Given the description of an element on the screen output the (x, y) to click on. 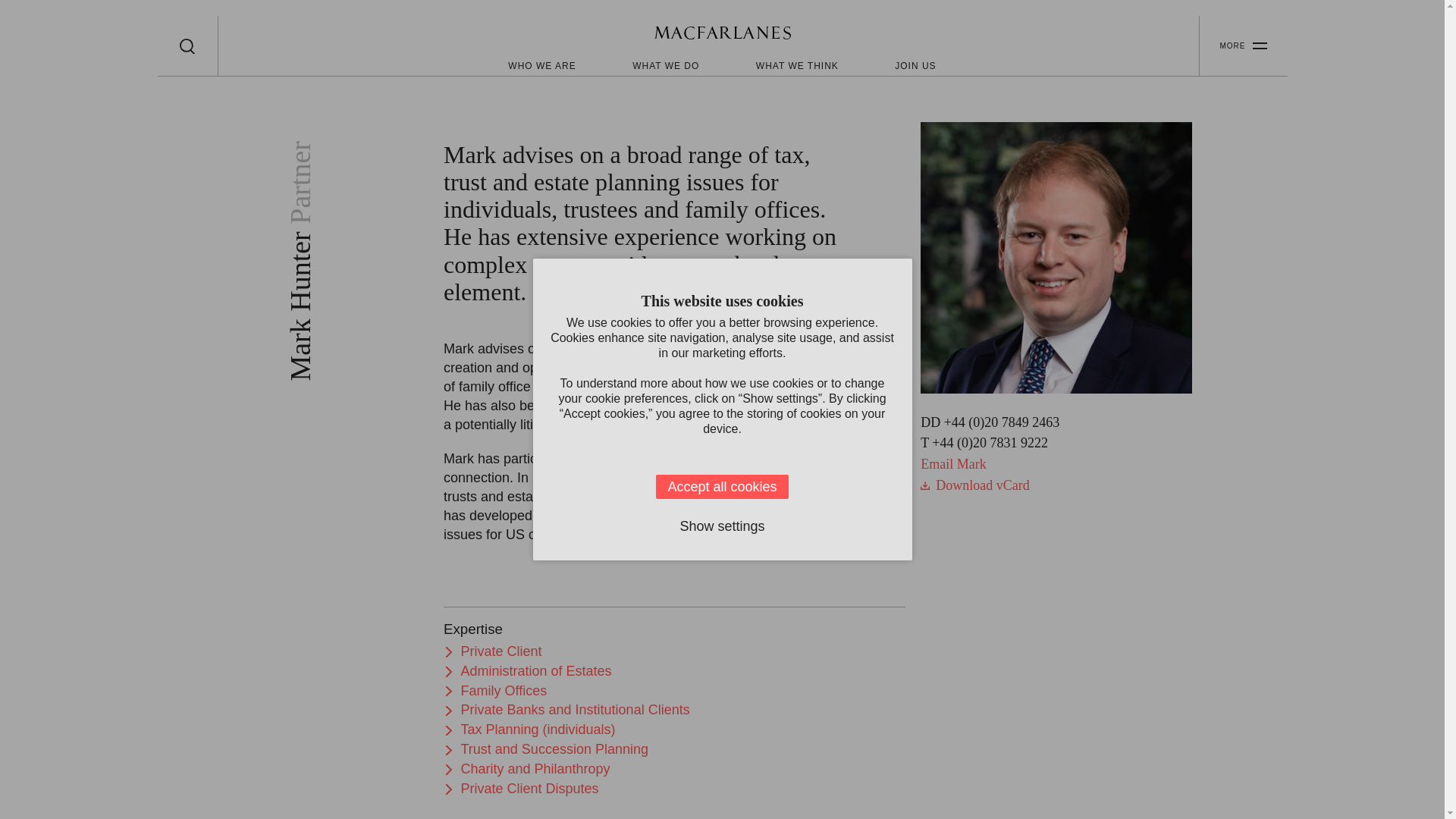
WHAT WE DO (664, 65)
WHO WE ARE (541, 65)
MACFARLANES (721, 35)
Search (187, 46)
WHAT WE THINK (796, 65)
